Given the description of an element on the screen output the (x, y) to click on. 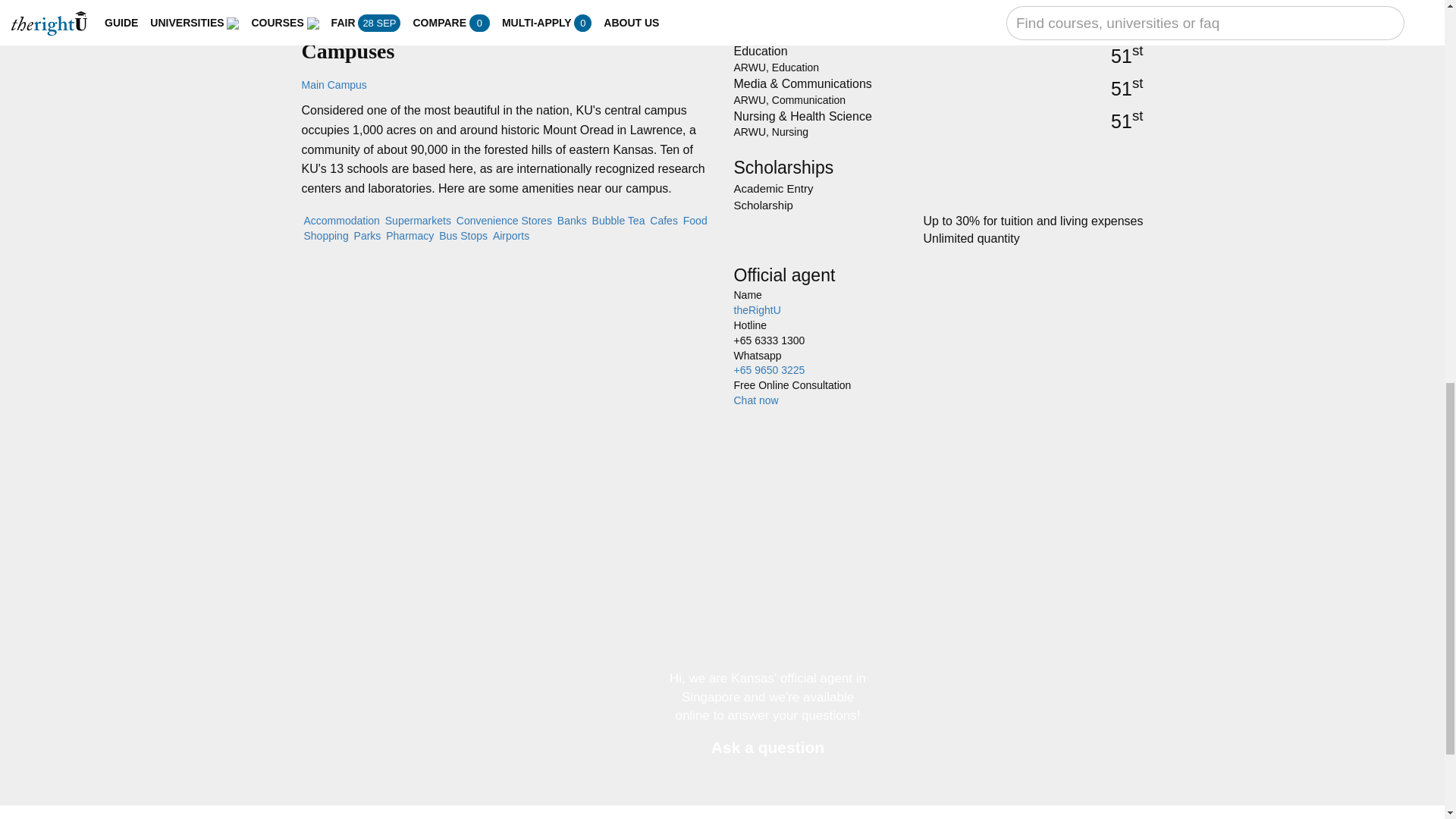
Main Campus (333, 84)
Cafes (662, 219)
Food (694, 219)
Convenience Stores (504, 219)
More about theRightU (756, 309)
Accommodation (340, 219)
Bubble Tea (617, 219)
Supermarkets (418, 219)
Banks (570, 219)
